Given the description of an element on the screen output the (x, y) to click on. 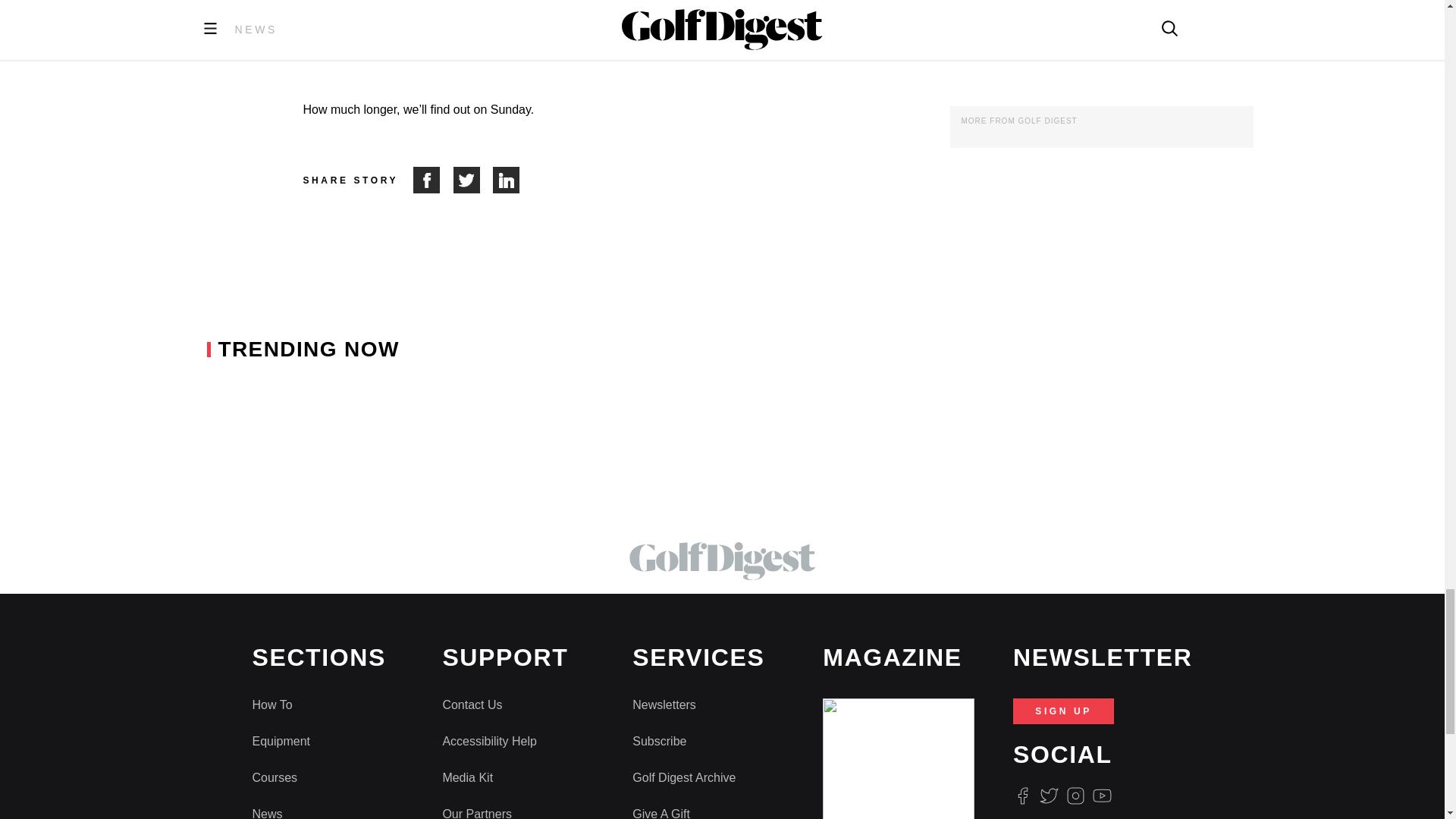
Twitter Logo (1048, 795)
Instagram Logo (1074, 795)
Youtube Icon (1102, 795)
Facebook Logo (1022, 795)
